Given the description of an element on the screen output the (x, y) to click on. 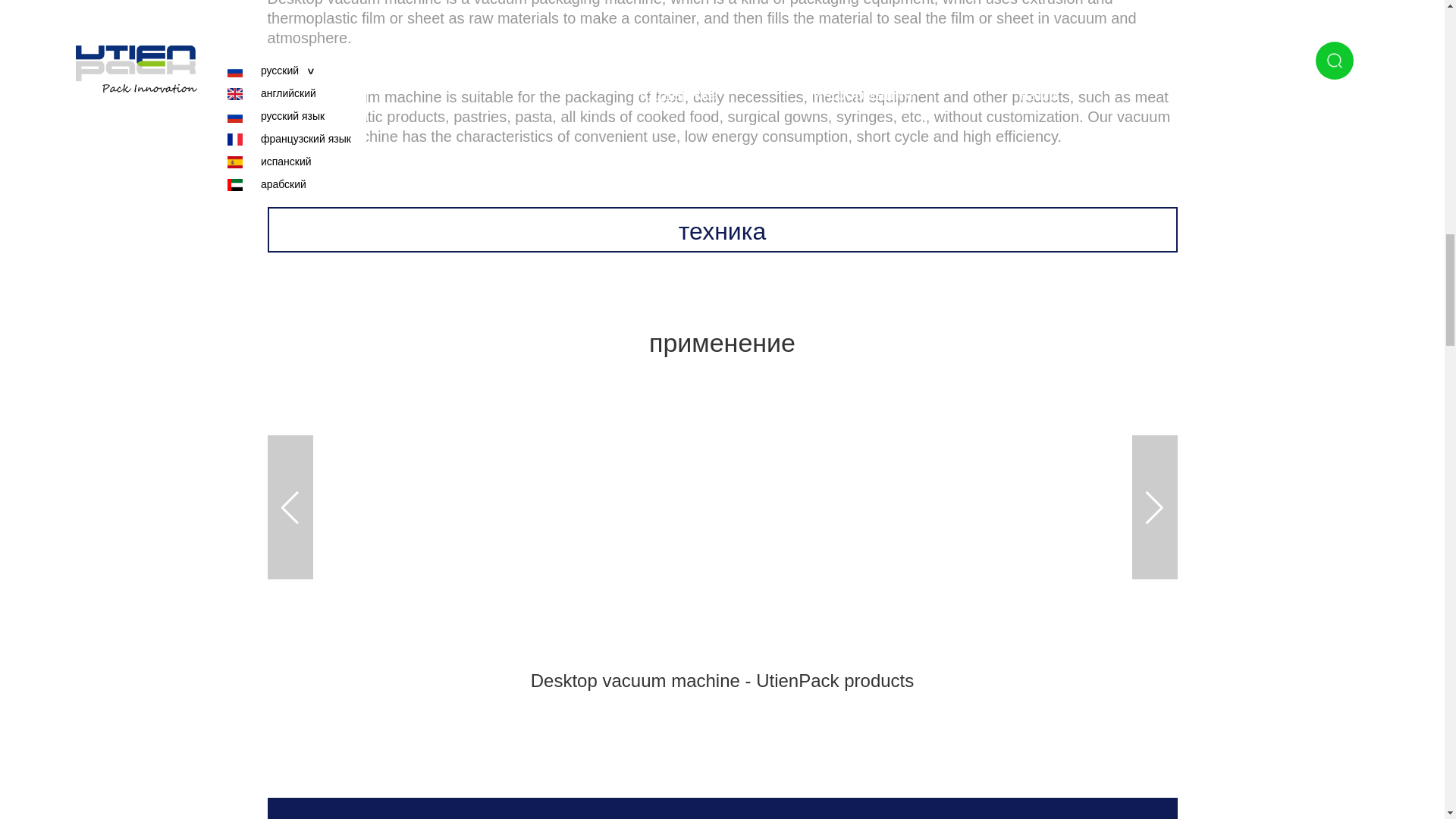
thermoforming machine for food (721, 506)
